Given the description of an element on the screen output the (x, y) to click on. 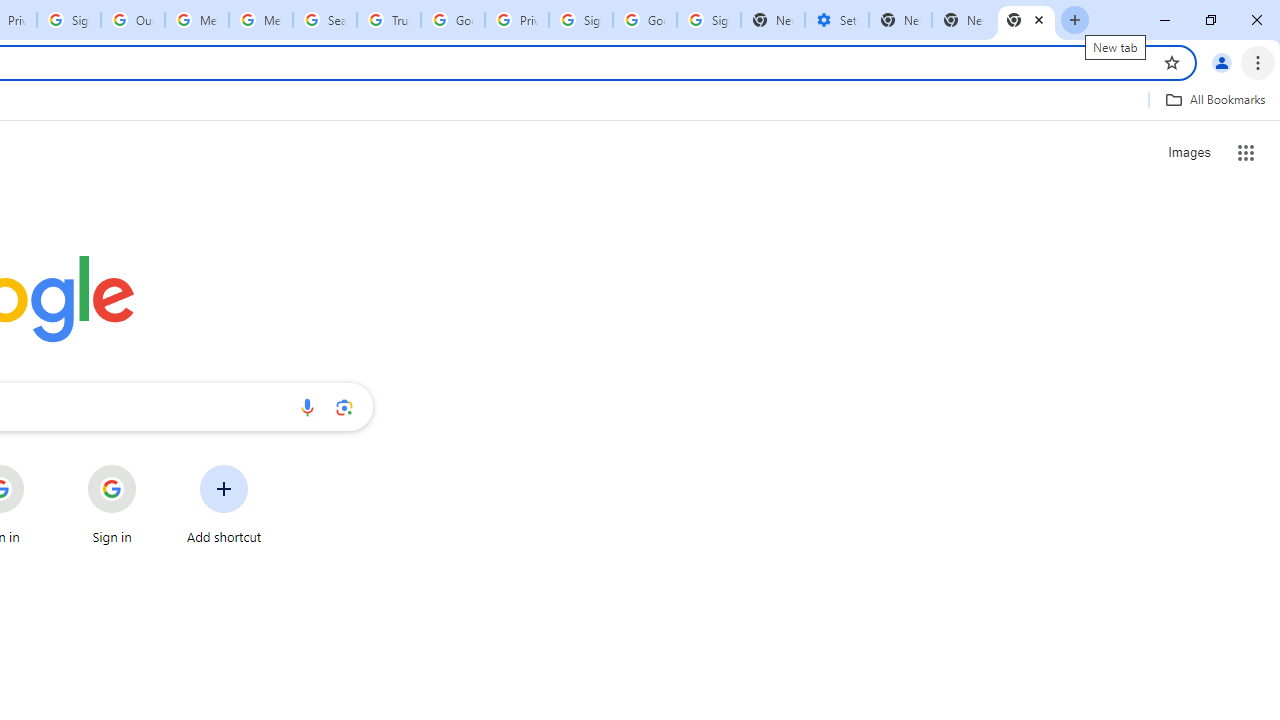
Search our Doodle Library Collection - Google Doodles (325, 20)
New Tab (1026, 20)
Sign in - Google Accounts (709, 20)
Sign in - Google Accounts (581, 20)
Google Cybersecurity Innovations - Google Safety Center (645, 20)
